Given the description of an element on the screen output the (x, y) to click on. 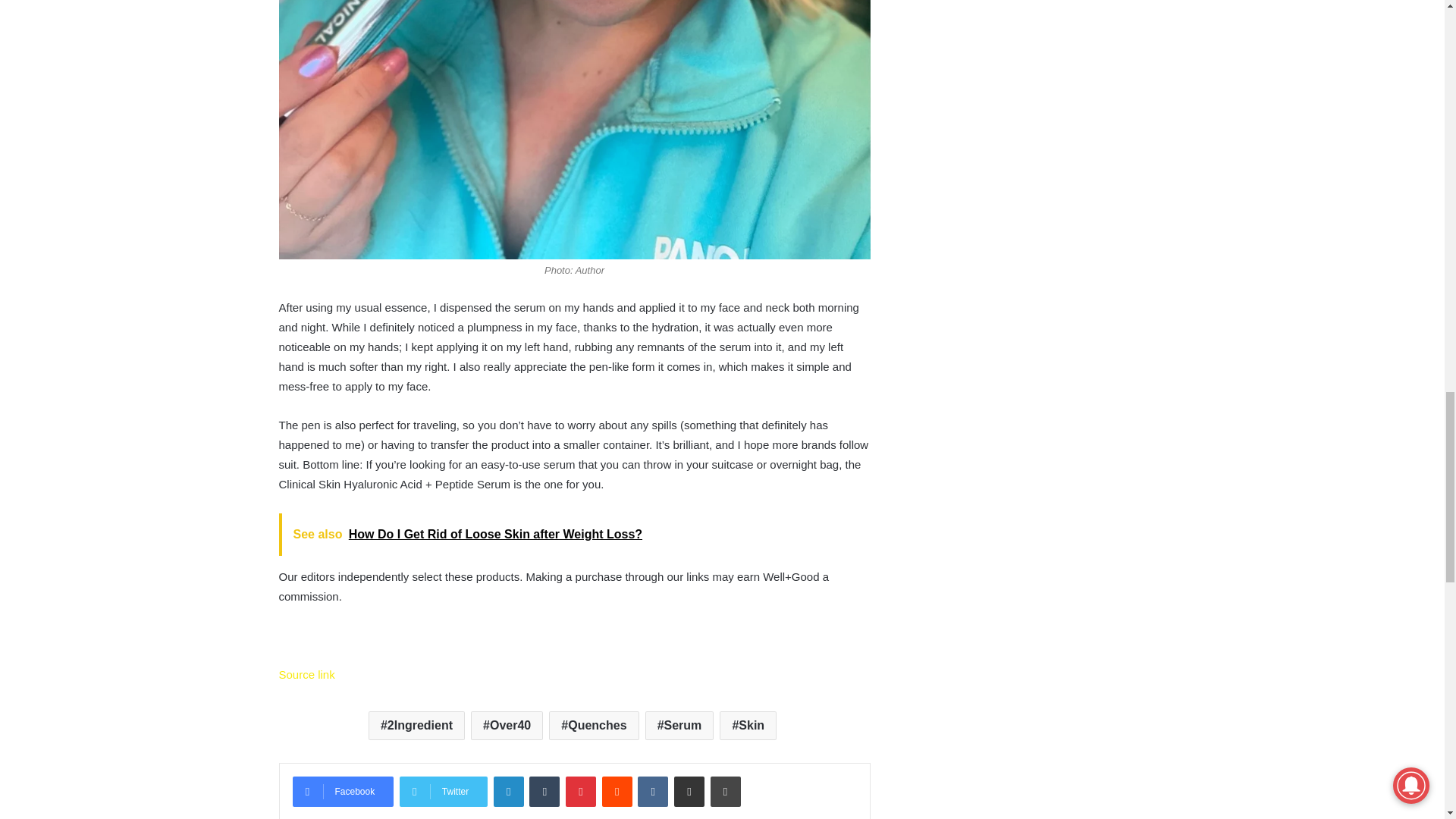
2Ingredient (416, 725)
Reddit (616, 791)
LinkedIn (508, 791)
Pinterest (580, 791)
Facebook (343, 791)
Reddit (616, 791)
Twitter (442, 791)
LinkedIn (508, 791)
VKontakte (652, 791)
VKontakte (652, 791)
